Given the description of an element on the screen output the (x, y) to click on. 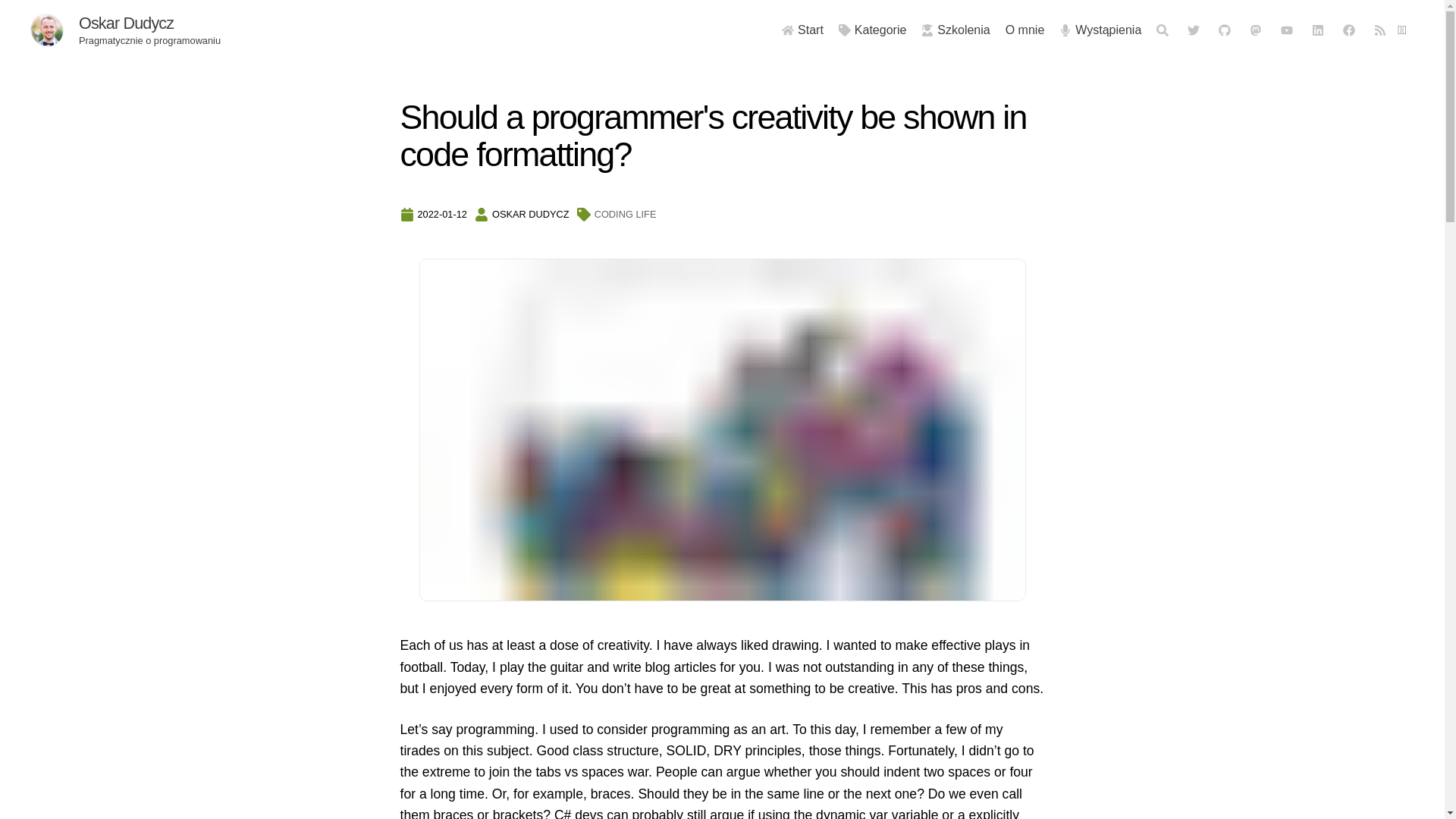
CODING LIFE (625, 214)
Start (802, 30)
O mnie (1024, 30)
Szkolenia (955, 30)
Kategorie (872, 30)
